Given the description of an element on the screen output the (x, y) to click on. 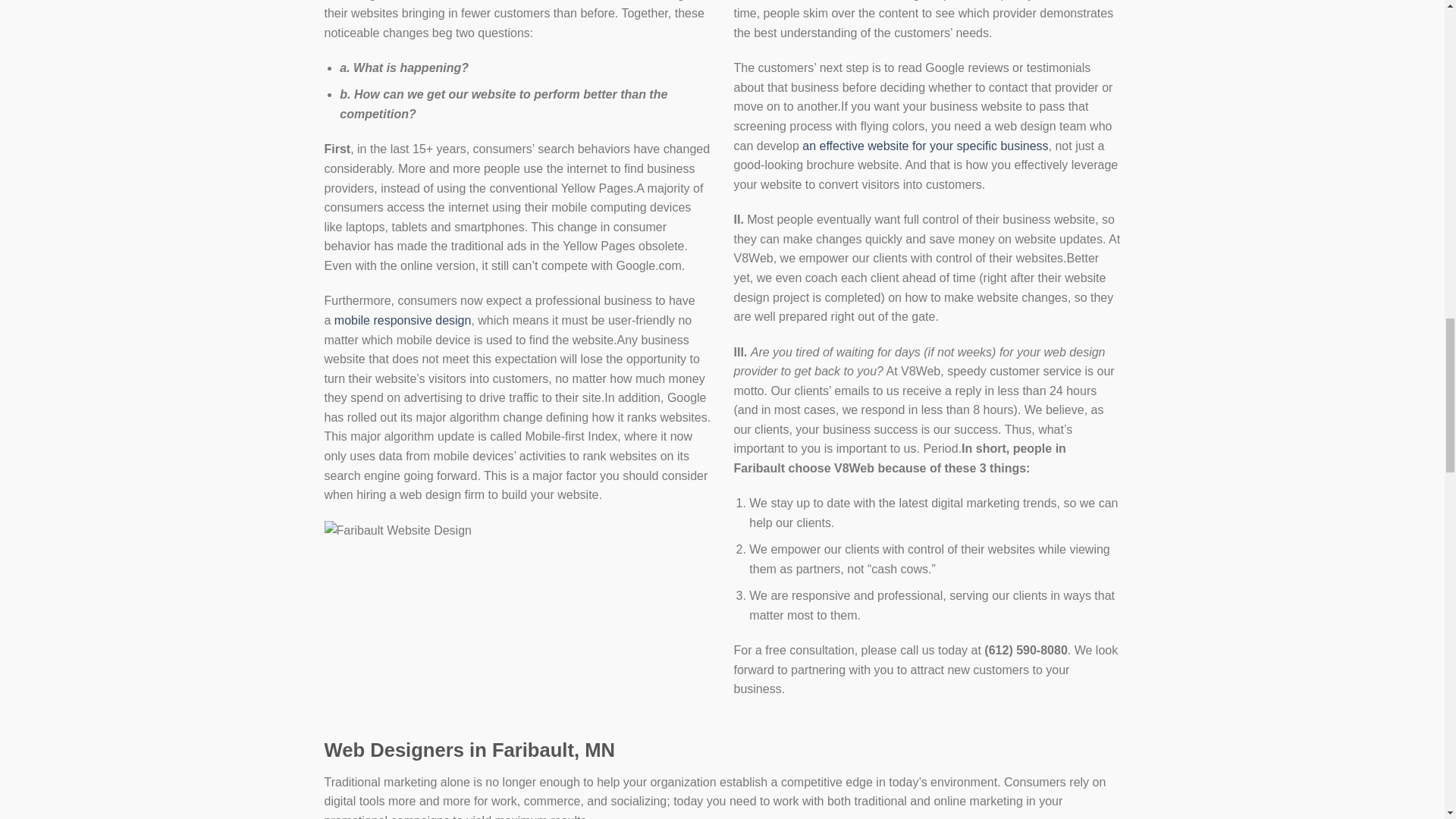
an effective website for your specific business (925, 145)
mobile responsive design (402, 319)
